Given the description of an element on the screen output the (x, y) to click on. 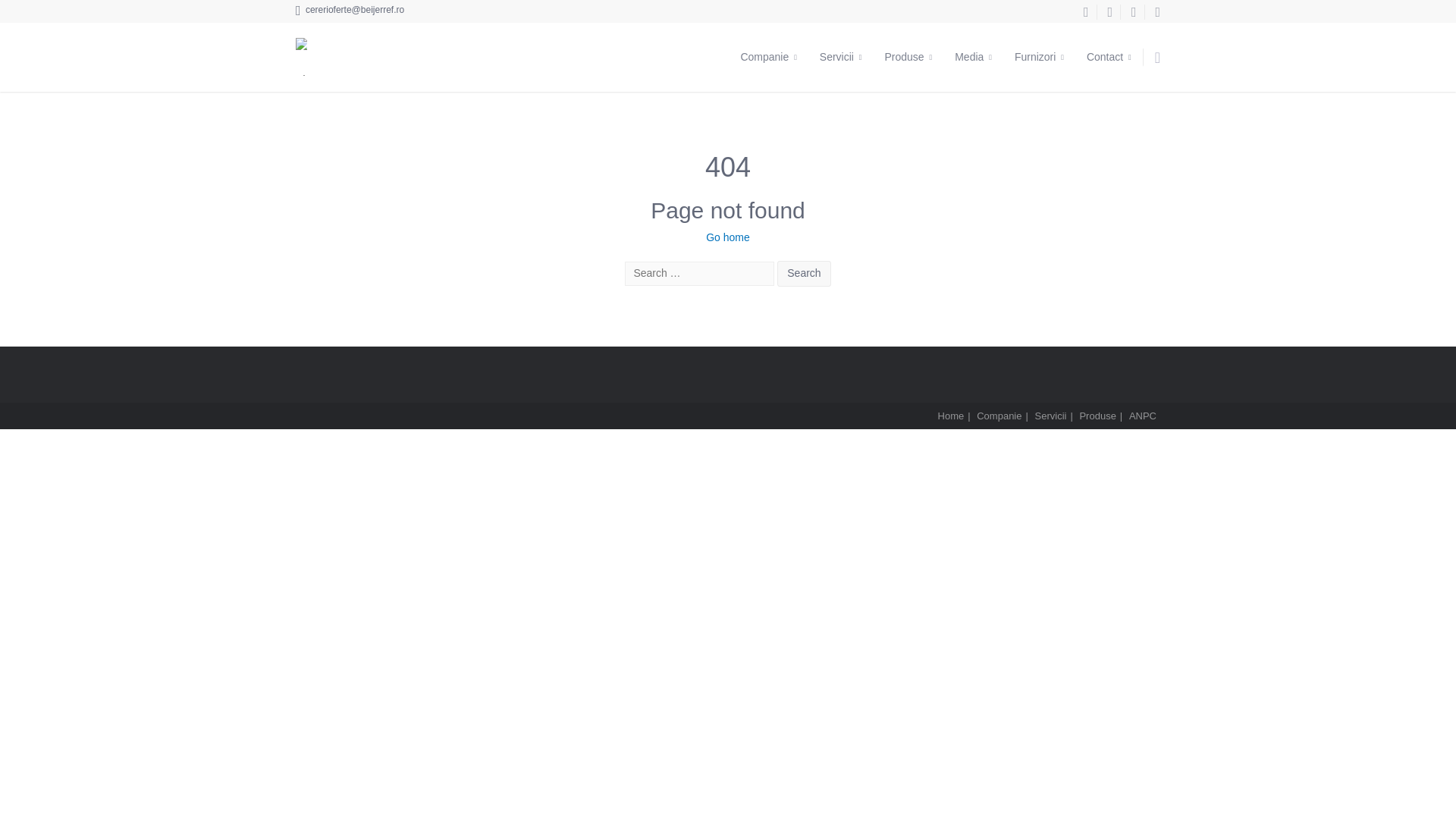
Search (803, 273)
Servicii (840, 56)
Produse (907, 56)
Companie (768, 56)
Search (803, 273)
